Given the description of an element on the screen output the (x, y) to click on. 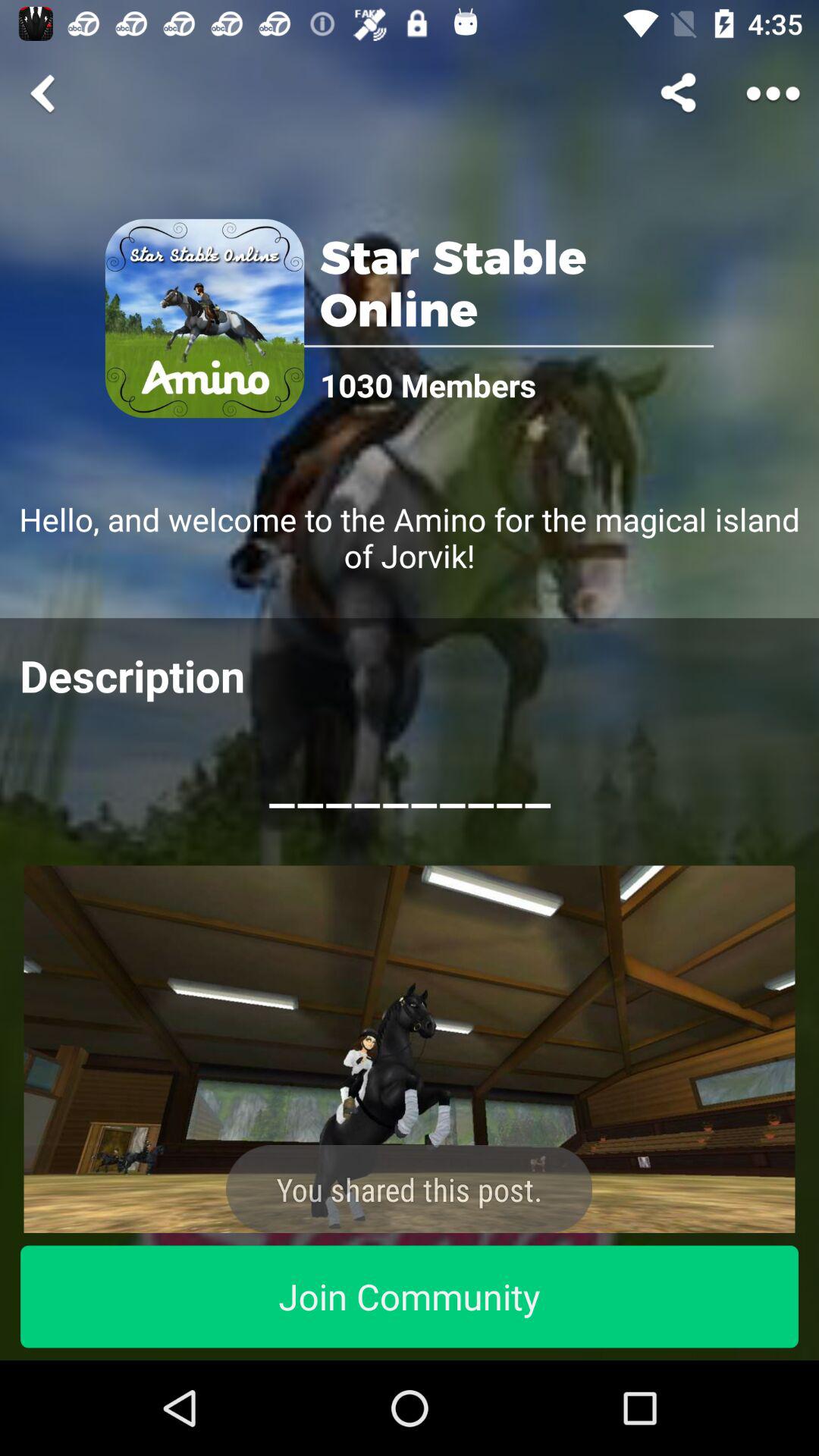
share the post (409, 1049)
